Given the description of an element on the screen output the (x, y) to click on. 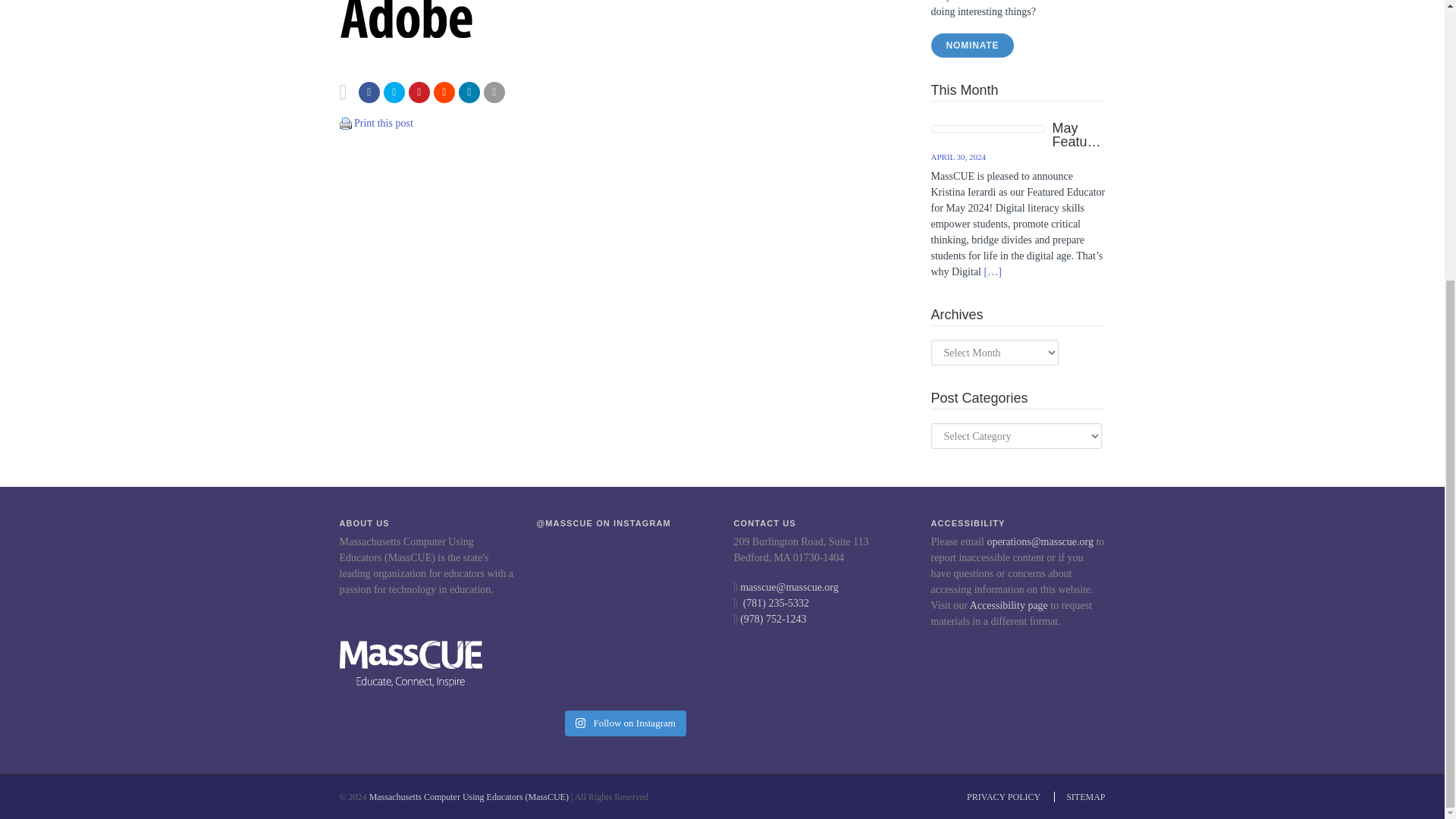
Email (494, 92)
Pin it (419, 92)
Share on Linkedin (469, 92)
Tweet (394, 92)
Print this post (345, 122)
Submit to Reddit (443, 92)
Share on Facebook (369, 92)
